Given the description of an element on the screen output the (x, y) to click on. 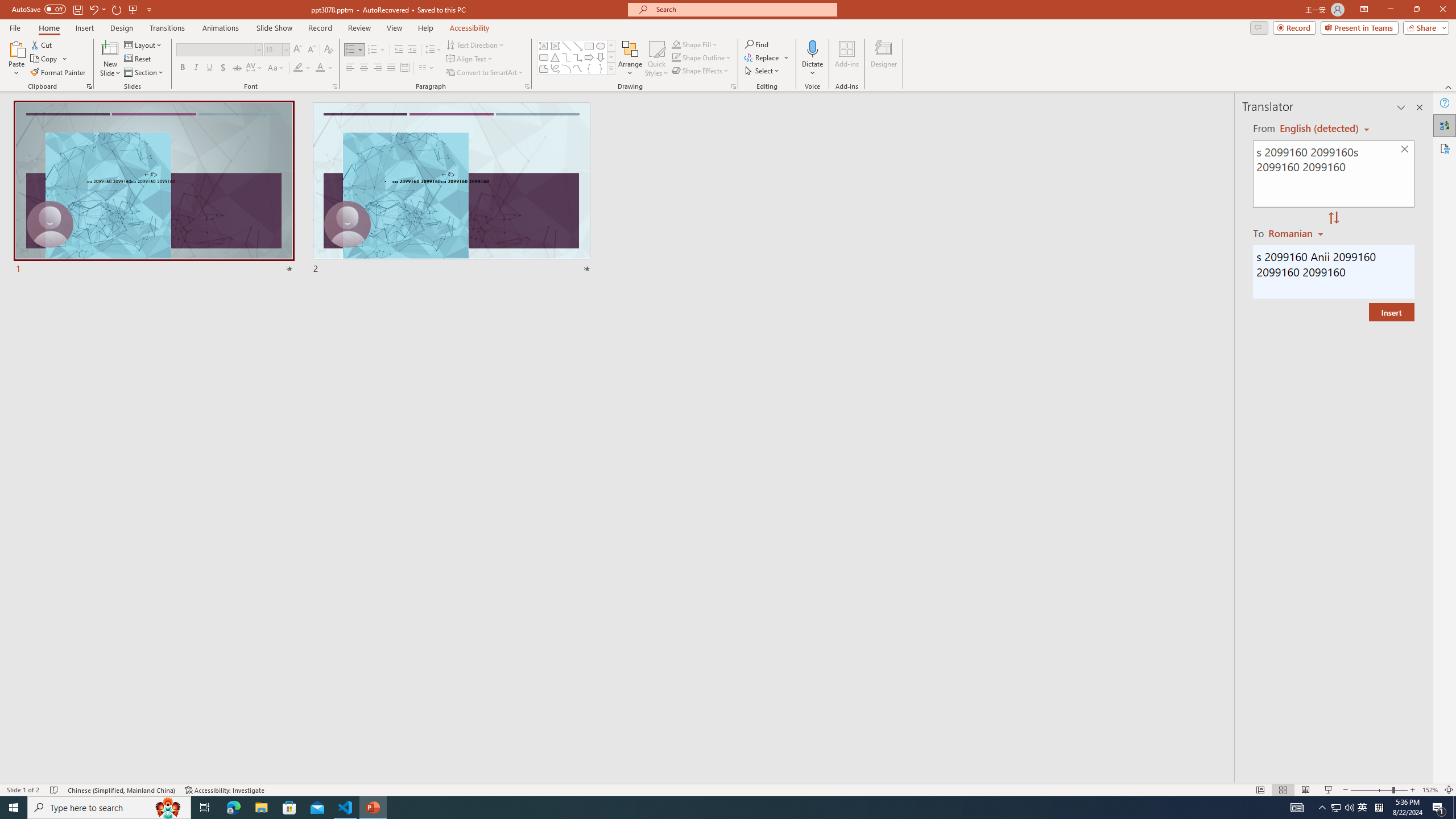
Clear text (1404, 149)
